Given the description of an element on the screen output the (x, y) to click on. 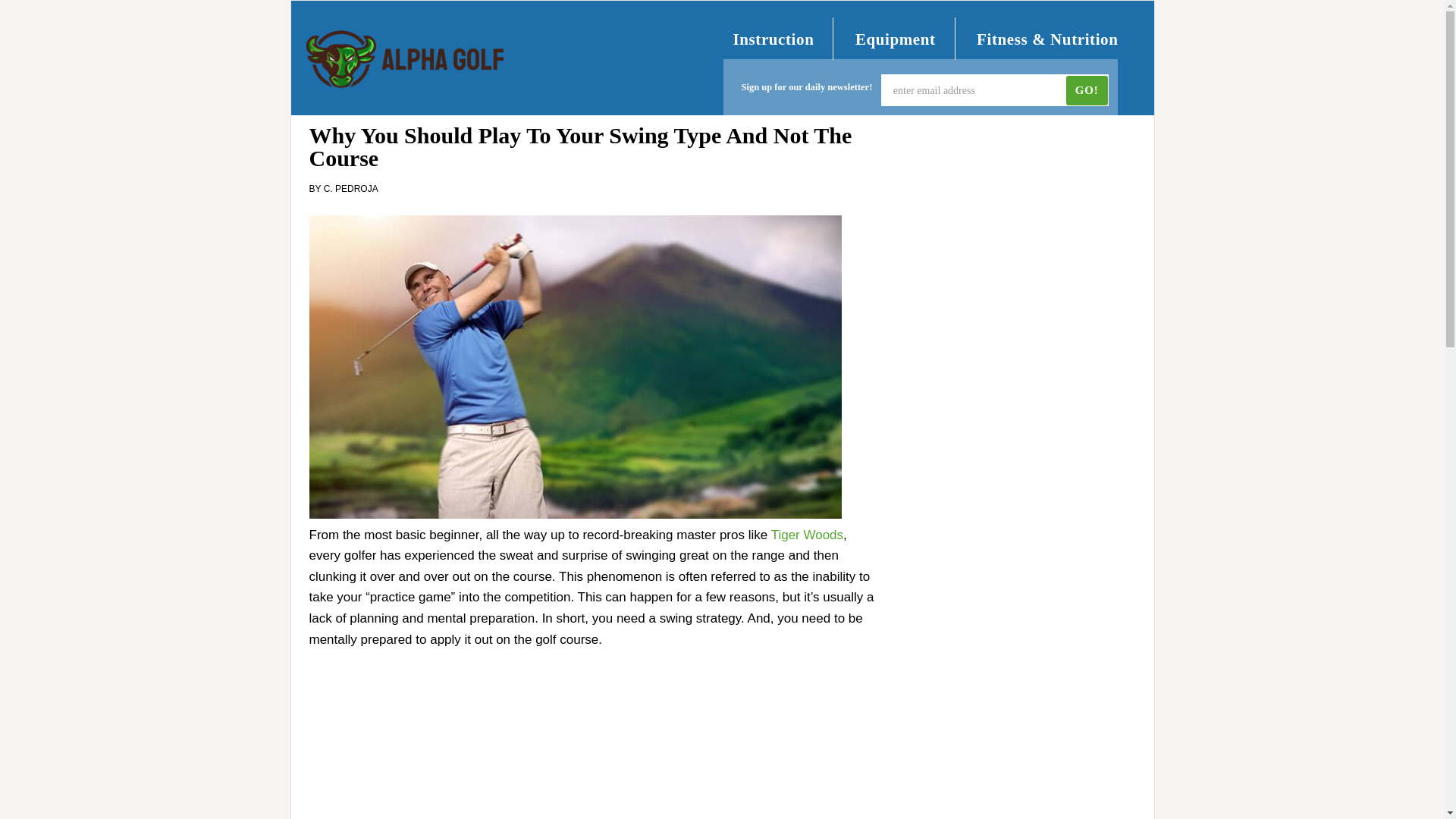
Instruction (772, 39)
GO! (1086, 90)
GO! (1086, 90)
Equipment (896, 39)
Tiger Woods (807, 534)
ALPHAGOLF.COM (404, 59)
Advertisement (594, 754)
